Given the description of an element on the screen output the (x, y) to click on. 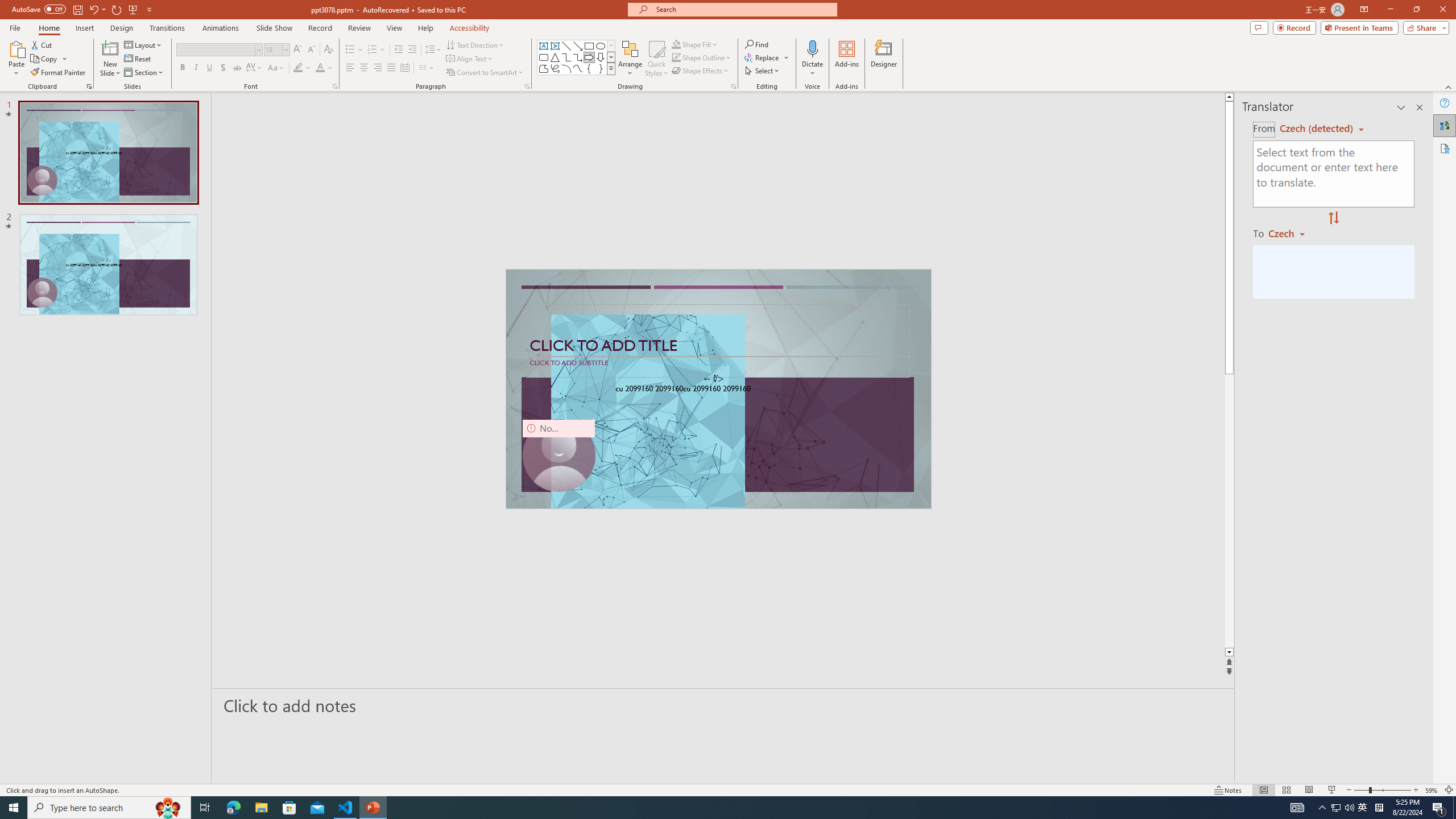
Section (144, 72)
Decrease Indent (398, 49)
An abstract genetic concept (718, 388)
Text Highlight Color Yellow (297, 67)
Bold (182, 67)
Arrange (630, 58)
